Given the description of an element on the screen output the (x, y) to click on. 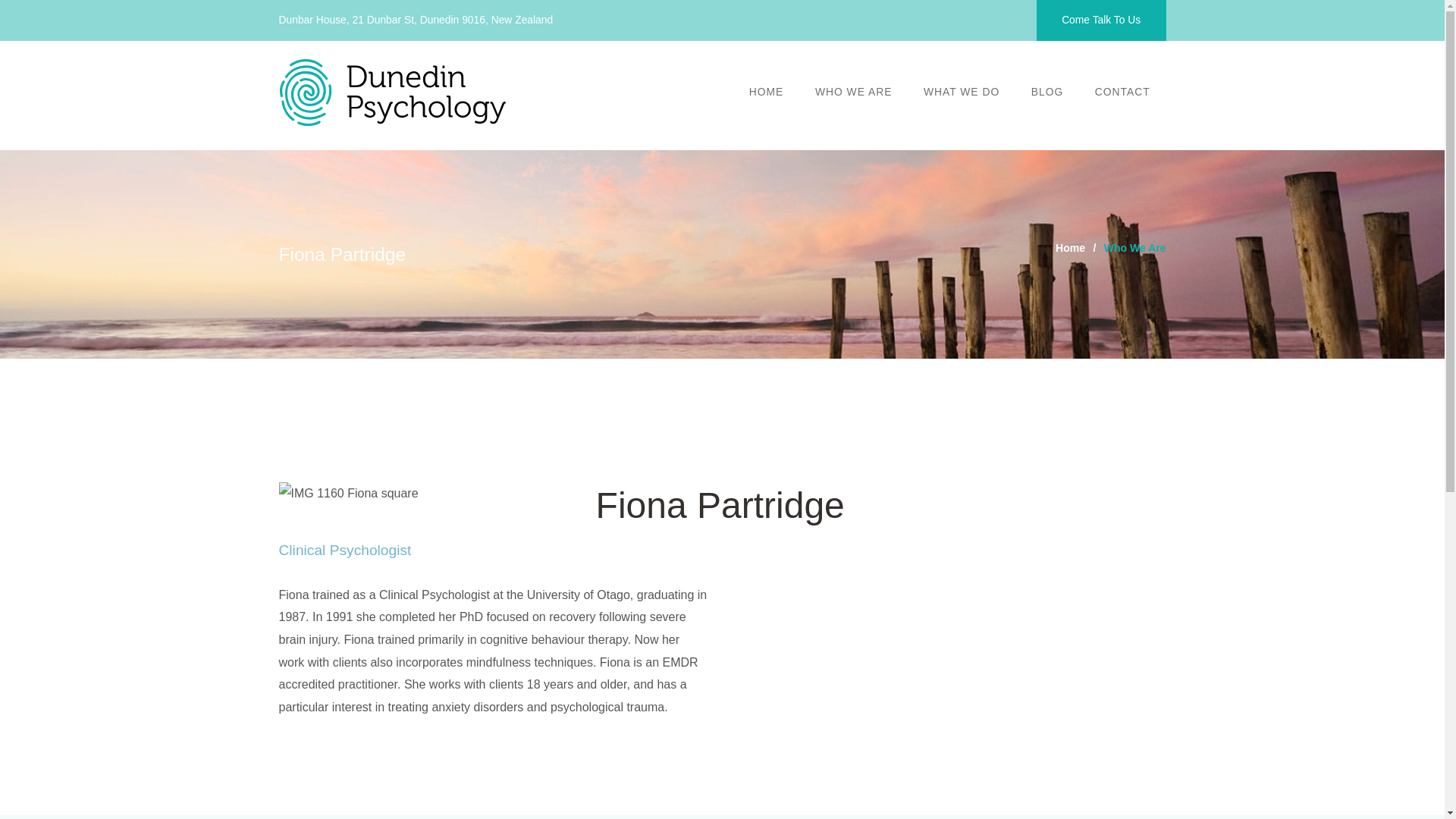
CONTACT (1122, 91)
HOME (766, 91)
WHAT WE DO (960, 91)
WHO WE ARE (853, 91)
Come Talk To Us (1100, 20)
Dunbar House, 21 Dunbar St, Dunedin 9016, New Zealand (416, 19)
Home (1069, 248)
BLOG (1046, 91)
IMG 1160 Fiona square (349, 493)
